Given the description of an element on the screen output the (x, y) to click on. 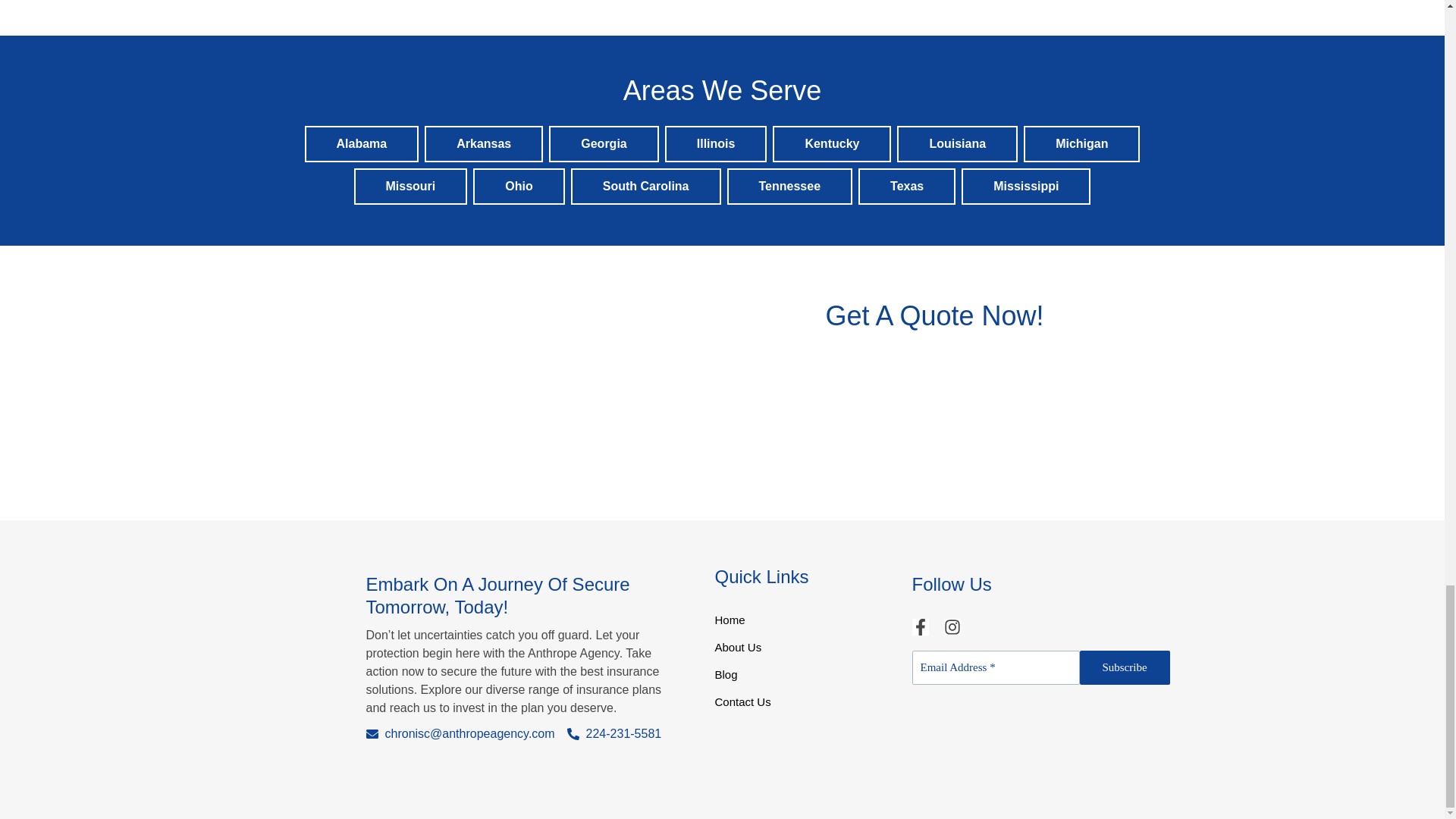
Missouri (410, 186)
224-231-5581 (614, 733)
Alabama (361, 143)
Texas (907, 186)
Blog (805, 678)
Michigan (1081, 143)
Tennessee (789, 186)
Subscribe (1125, 667)
Kentucky (831, 143)
Contact Us (805, 706)
Mississippi (1025, 186)
Louisiana (956, 143)
South Carolina (645, 186)
Arkansas (484, 143)
Georgia (603, 143)
